Given the description of an element on the screen output the (x, y) to click on. 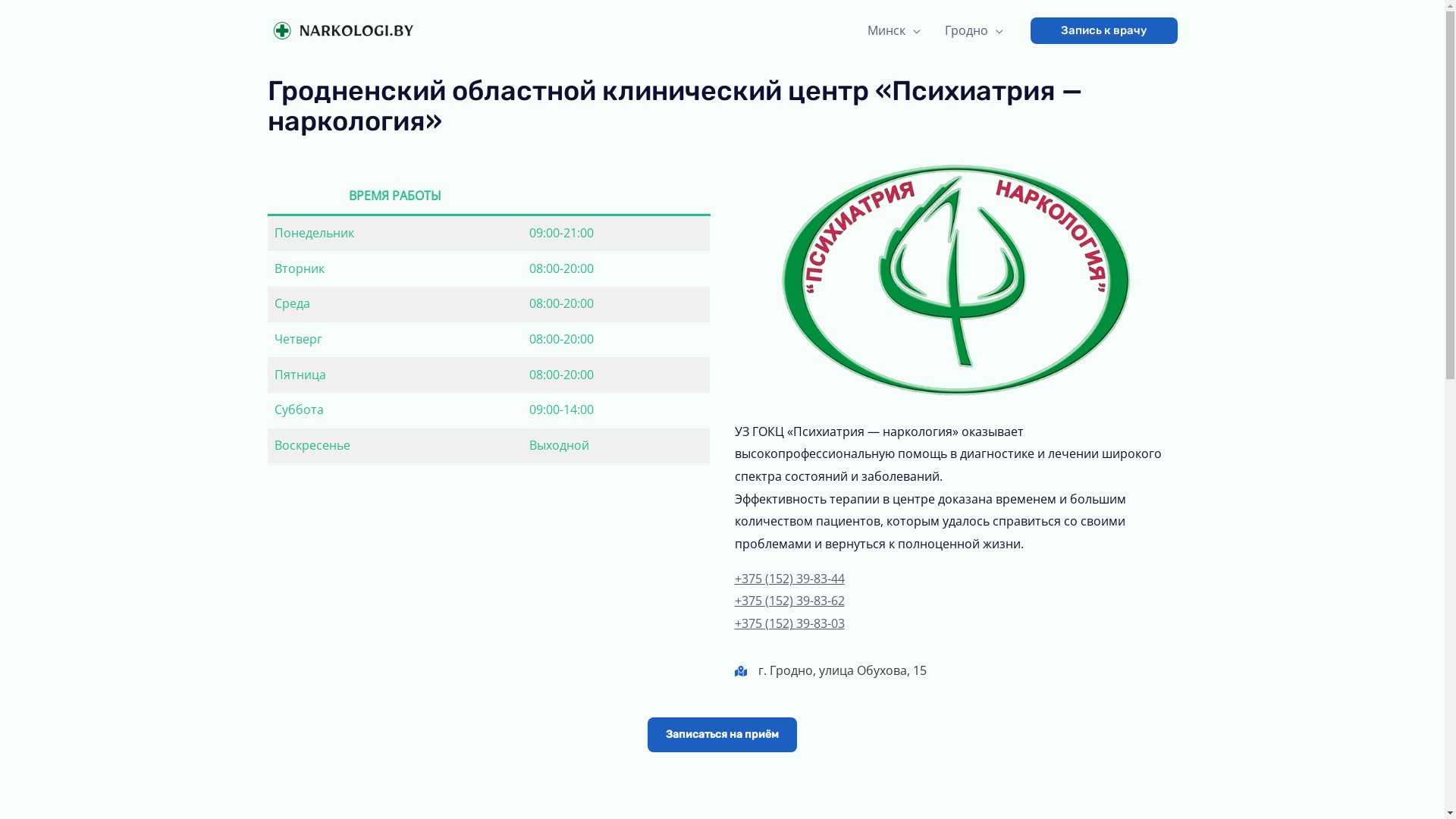
+375 (152) 39-83-44 Element type: text (789, 578)
+375 (152) 39-83-03 Element type: text (789, 623)
+375 (152) 39-83-62 Element type: text (789, 600)
